Given the description of an element on the screen output the (x, y) to click on. 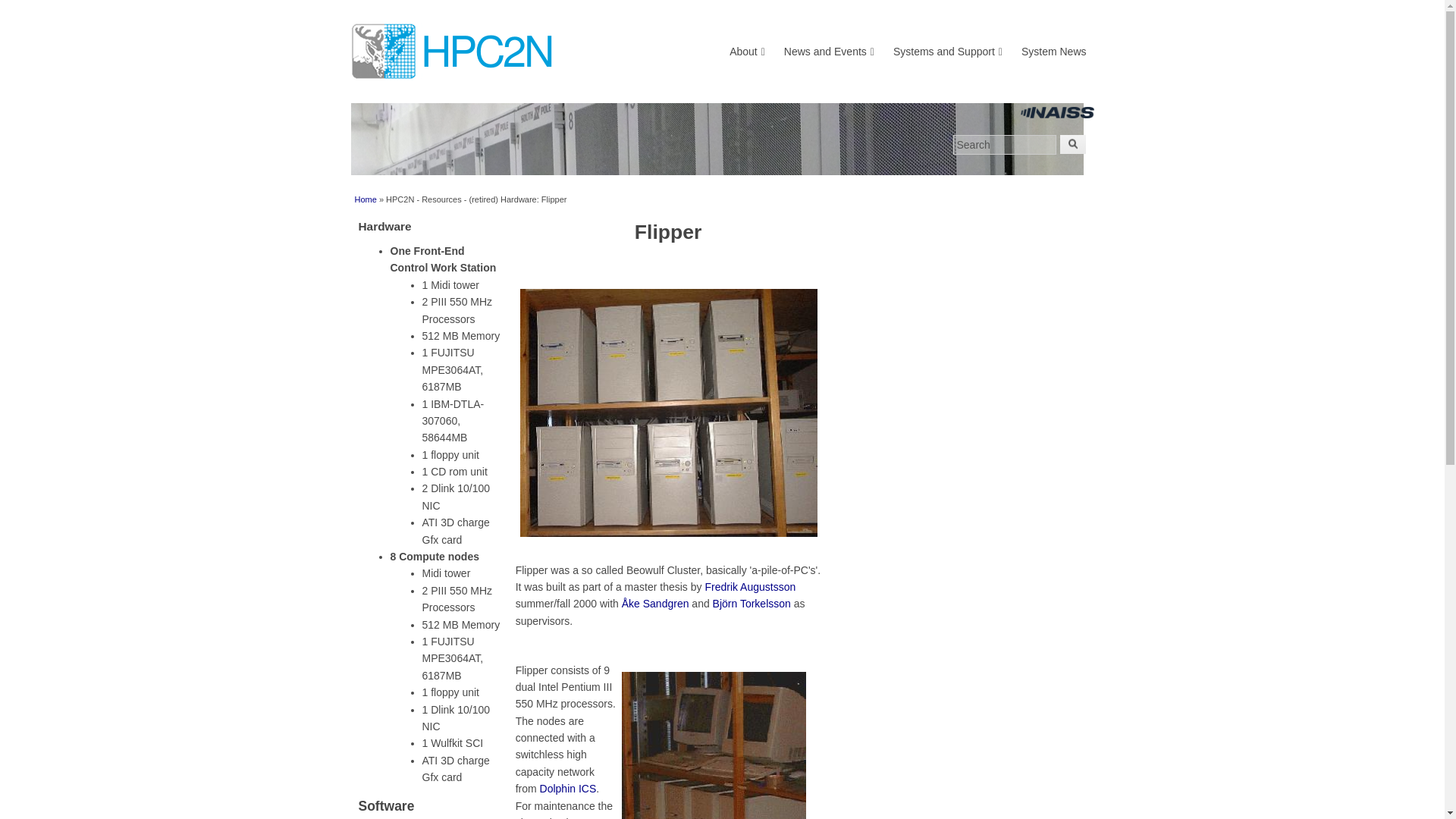
About (747, 51)
News and Events (829, 51)
Search (1003, 144)
Home (721, 51)
Search (1003, 144)
Enter the terms you wish to search for. (1003, 144)
Systems and Support (948, 51)
